Given the description of an element on the screen output the (x, y) to click on. 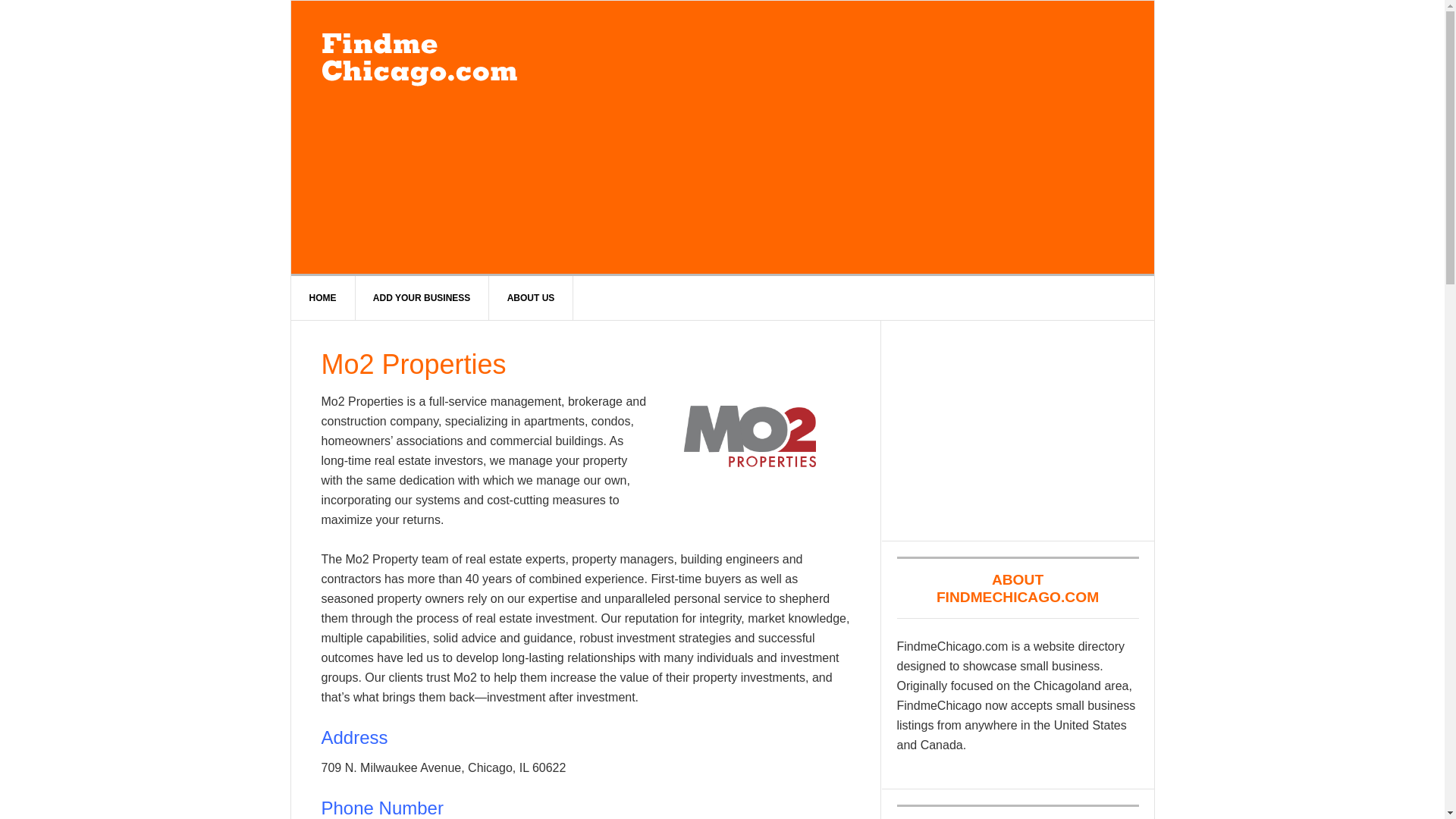
ABOUT US (531, 298)
Advertisement (837, 137)
ADD YOUR BUSINESS (422, 298)
HOME (323, 298)
Advertisement (1017, 430)
